Given the description of an element on the screen output the (x, y) to click on. 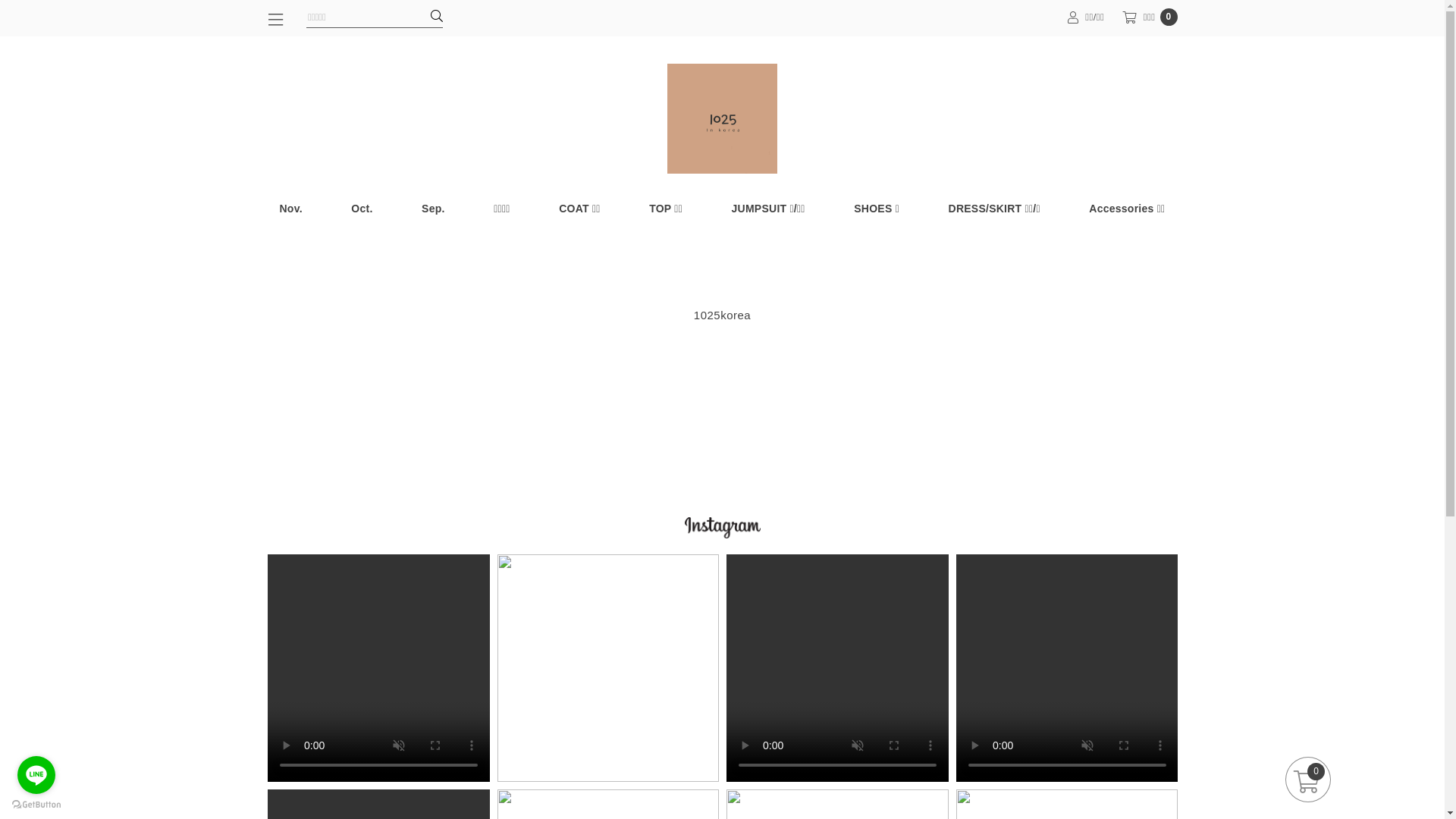
Oct. Element type: text (361, 208)
0 Element type: text (1307, 779)
Sep. Element type: text (433, 208)
Nov. Element type: text (289, 208)
1025korea Element type: text (721, 314)
